Given the description of an element on the screen output the (x, y) to click on. 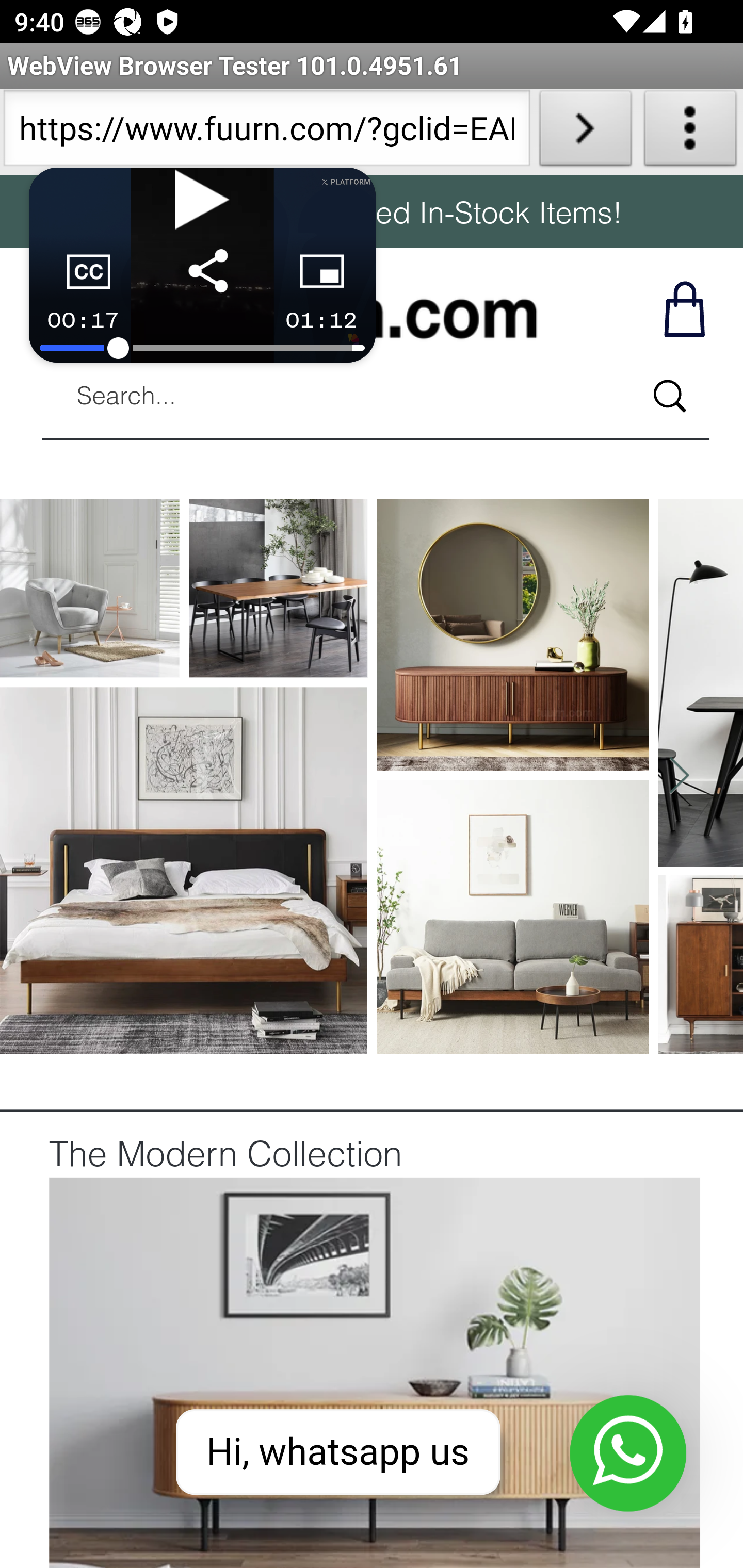
Load URL (585, 132)
About WebView (690, 132)
Shop (682, 308)
Search... (669, 395)
The Modern Collection (225, 1156)
WEB Collection_7.jpg (373, 1371)
